Given the description of an element on the screen output the (x, y) to click on. 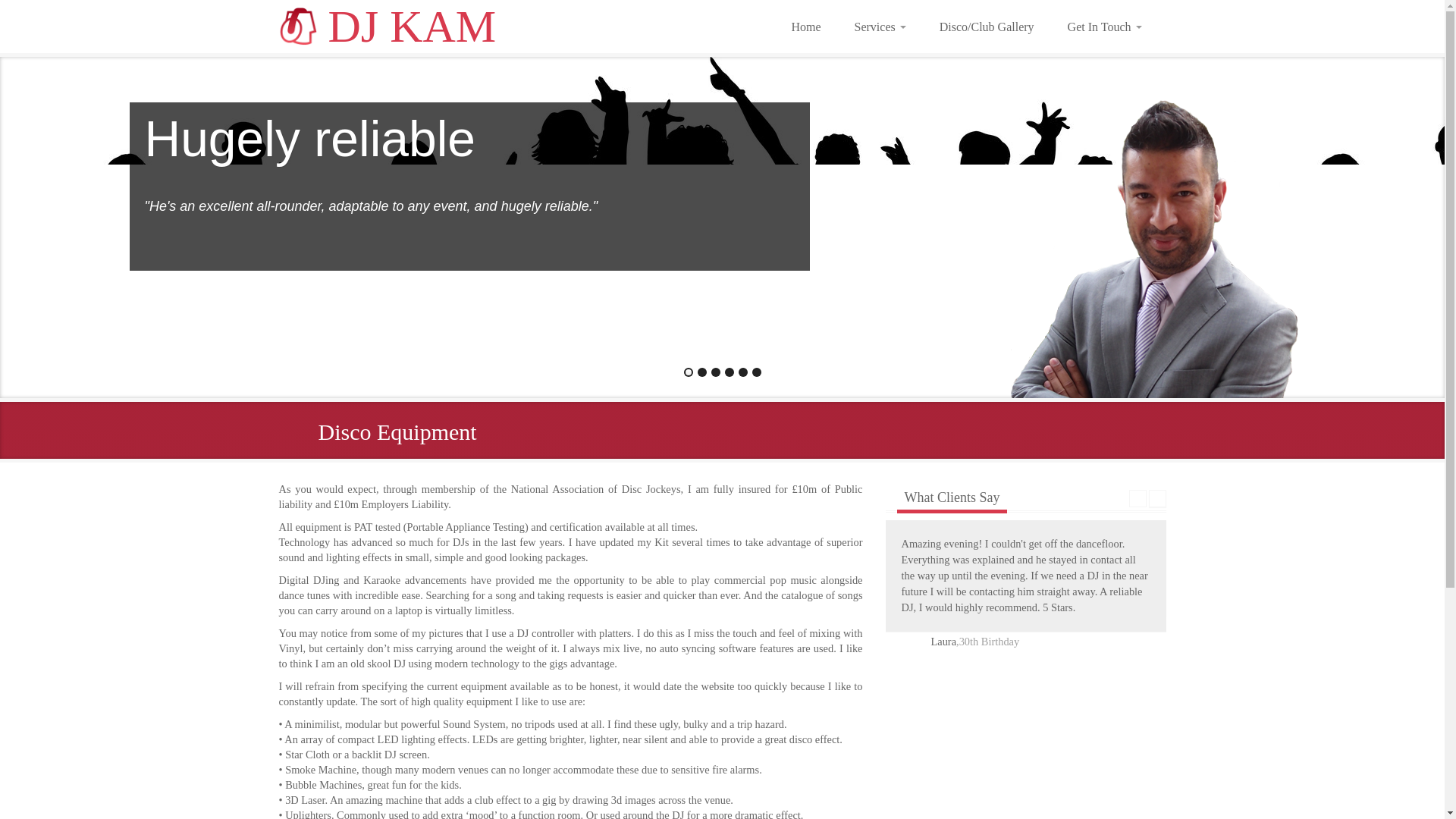
Services (880, 25)
Get In Touch (1104, 25)
Home (805, 25)
DJ KAM (389, 30)
